Given the description of an element on the screen output the (x, y) to click on. 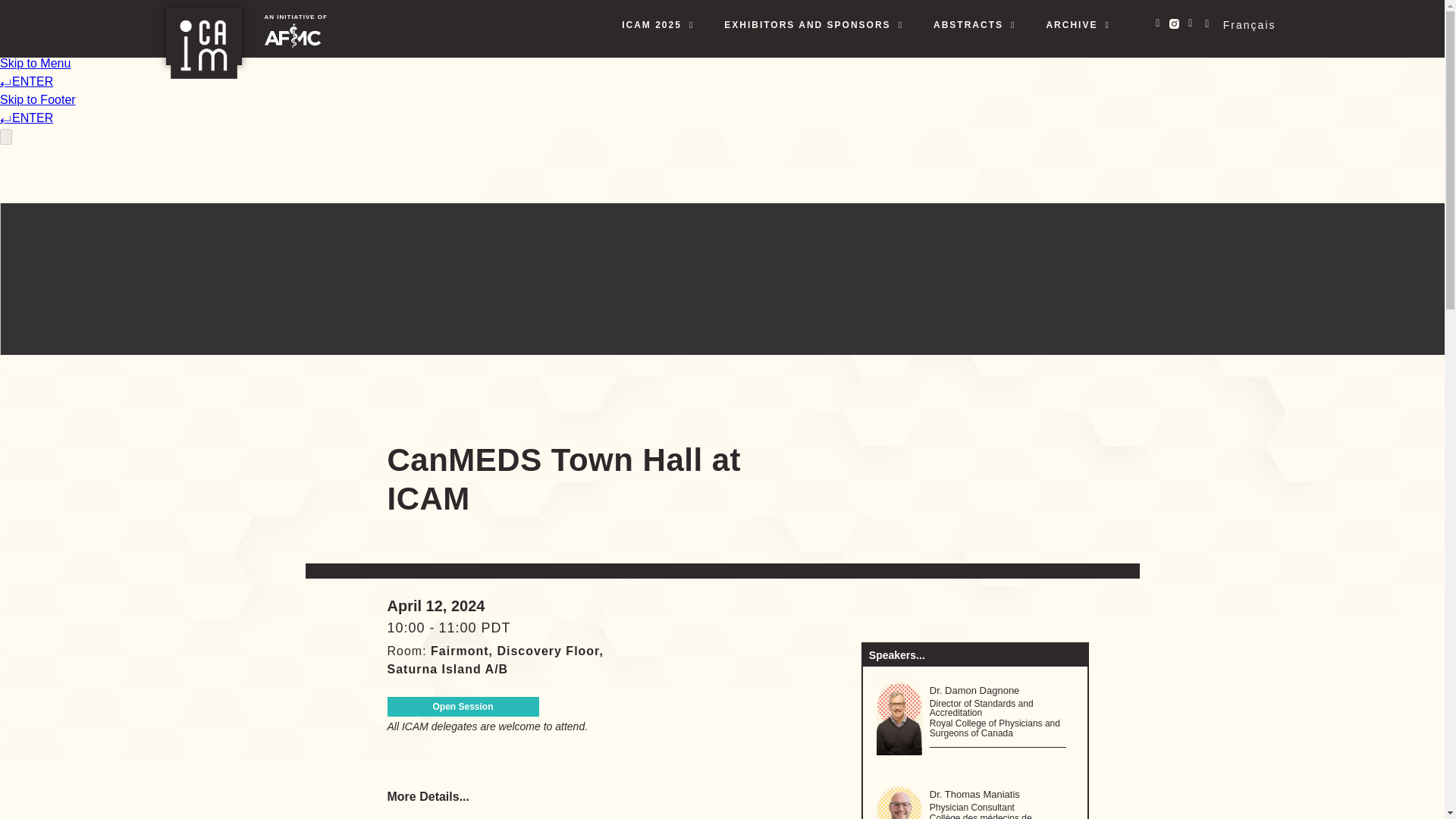
ARCHIVE (1077, 24)
ICAM 2025 (658, 24)
ABSTRACTS (974, 24)
EXHIBITORS AND SPONSORS (813, 24)
